Given the description of an element on the screen output the (x, y) to click on. 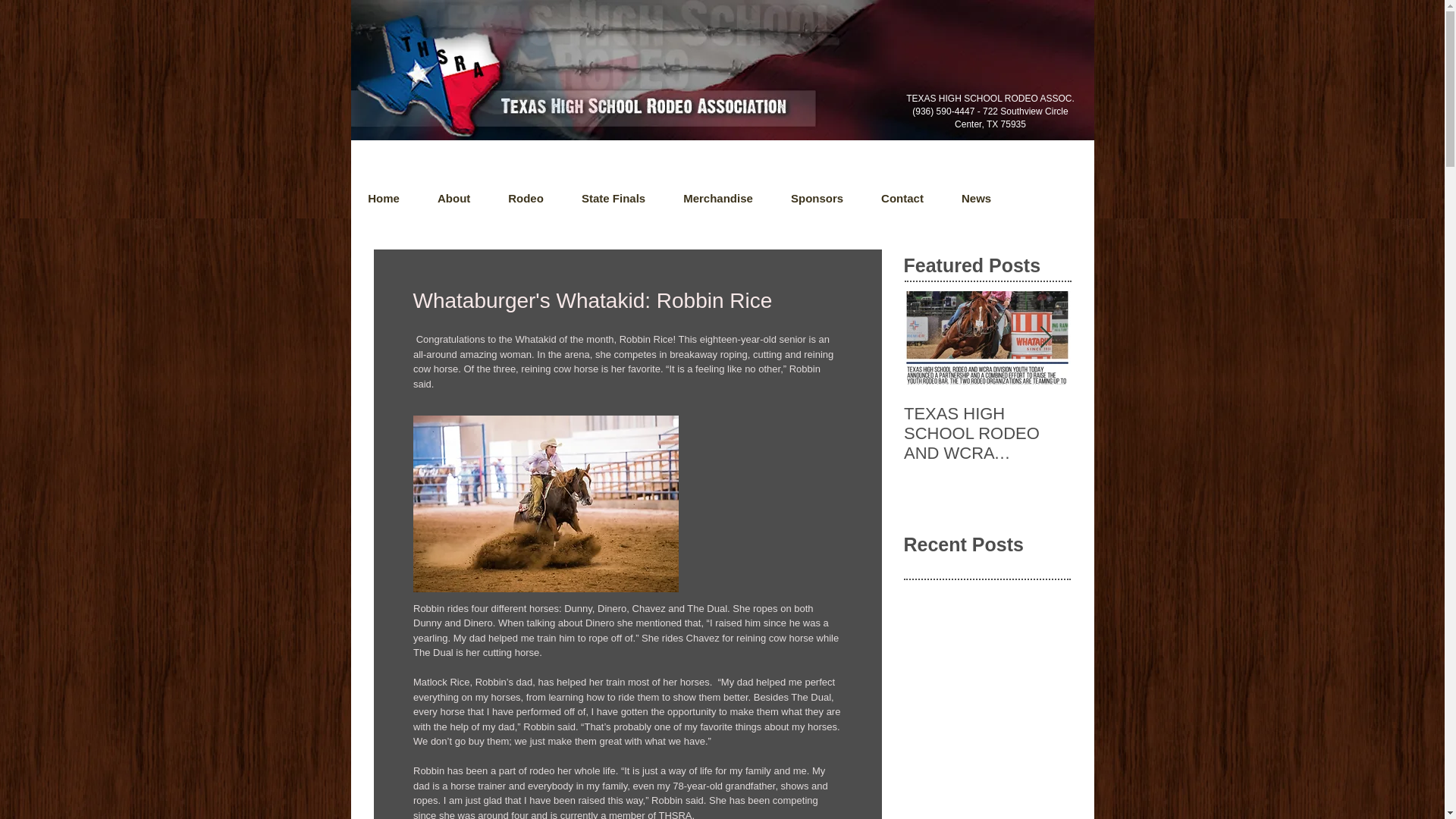
Contact (901, 198)
2020 State Finals Announcement (1153, 423)
Home (384, 198)
Sponsors (816, 198)
Rodeo (525, 198)
www.ultralitefilms.com (421, 70)
State Finals (612, 198)
About (454, 198)
Merchandise (717, 198)
www.budforce.com (414, 103)
